Given the description of an element on the screen output the (x, y) to click on. 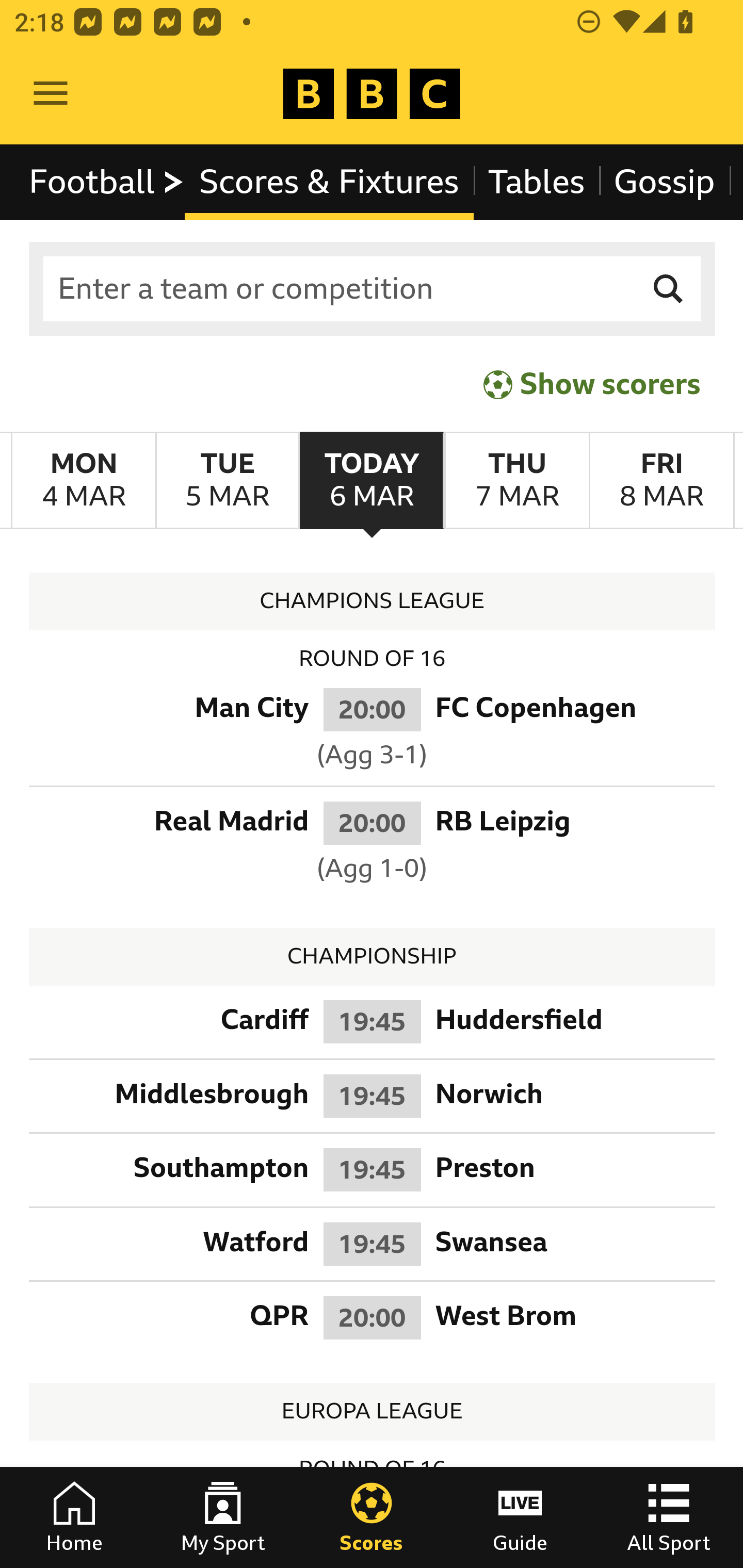
Open Menu (50, 93)
Football  (106, 181)
Scores & Fixtures (329, 181)
Tables (536, 181)
Gossip (664, 181)
Search (669, 289)
Show scorers (591, 383)
MondayMarch 4th Monday March 4th (83, 480)
TuesdayMarch 5th Tuesday March 5th (227, 480)
ThursdayMarch 7th Thursday March 7th (516, 480)
FridayMarch 8th Friday March 8th (661, 480)
Home (74, 1517)
My Sport (222, 1517)
Guide (519, 1517)
All Sport (668, 1517)
